Given the description of an element on the screen output the (x, y) to click on. 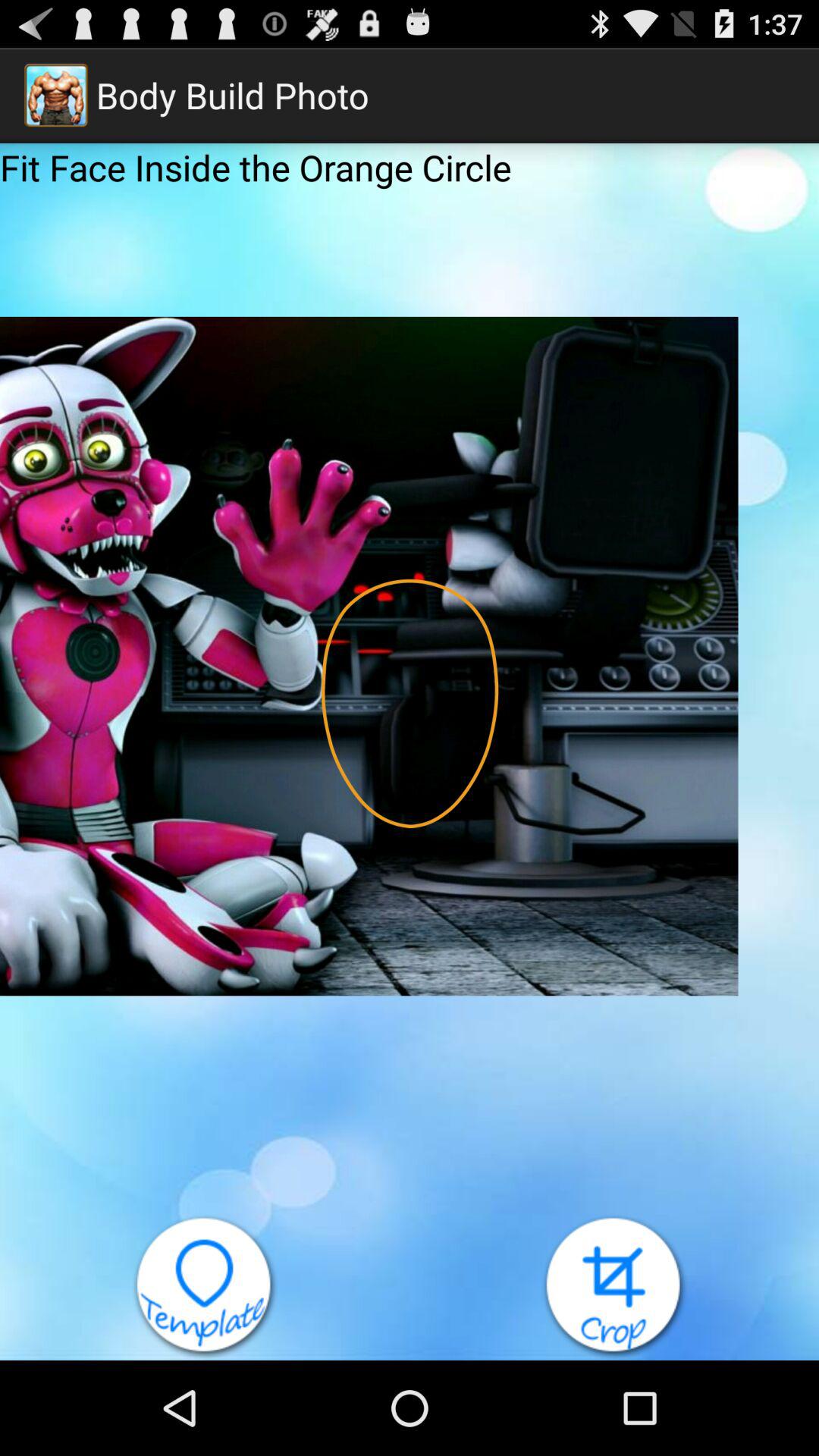
press the icon at the bottom right corner (614, 1287)
